Given the description of an element on the screen output the (x, y) to click on. 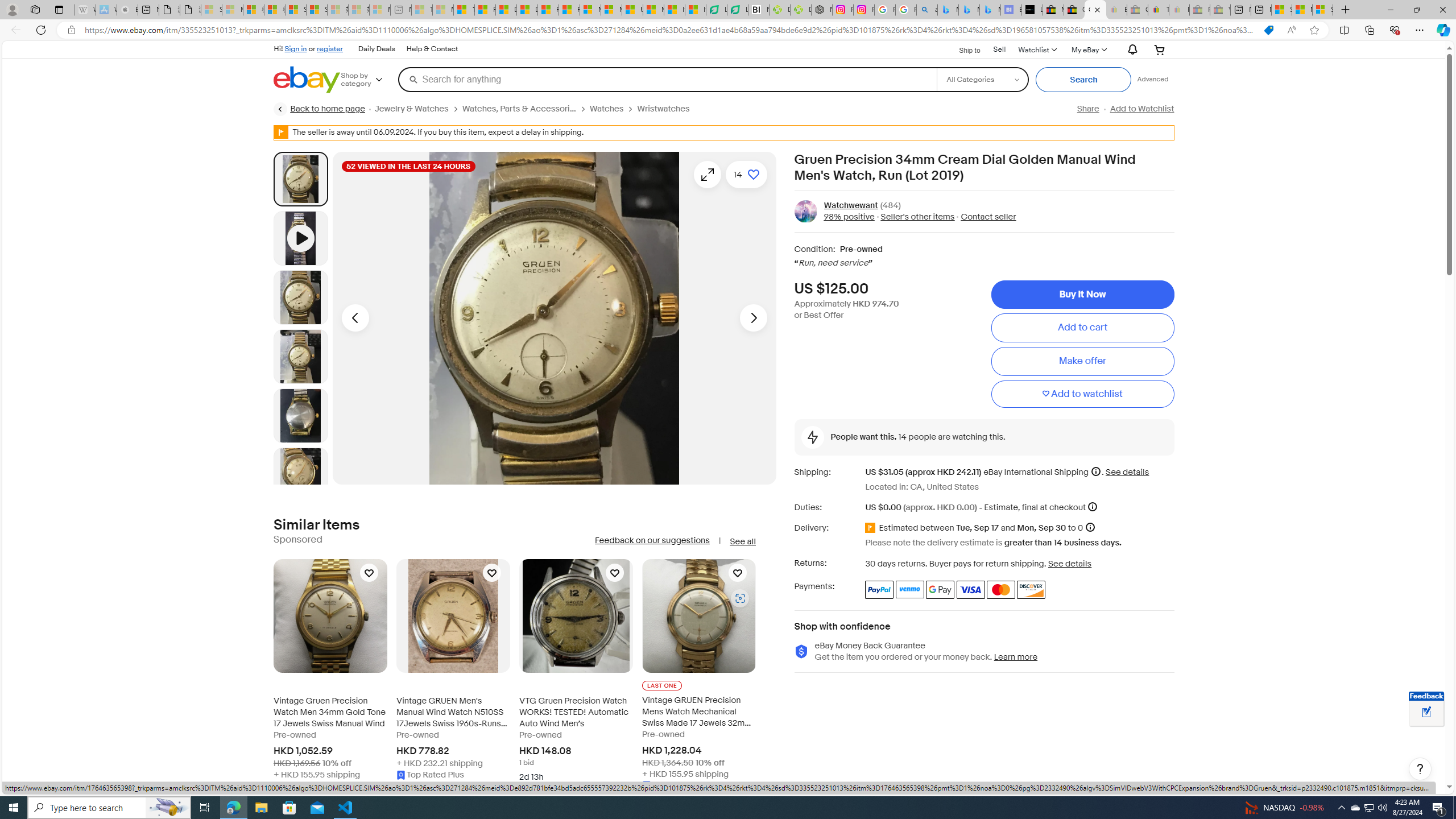
Contact seller (988, 216)
  Contact seller (984, 216)
eBay Home (306, 79)
Microsoft Services Agreement - Sleeping (231, 9)
Picture 1 of 13 (300, 178)
Watchlist (1036, 49)
Drinking tea every day is proven to delay biological aging (527, 9)
See all (742, 540)
Help, opens dialogs (1420, 768)
Picture 1 of 13 (300, 178)
